Given the description of an element on the screen output the (x, y) to click on. 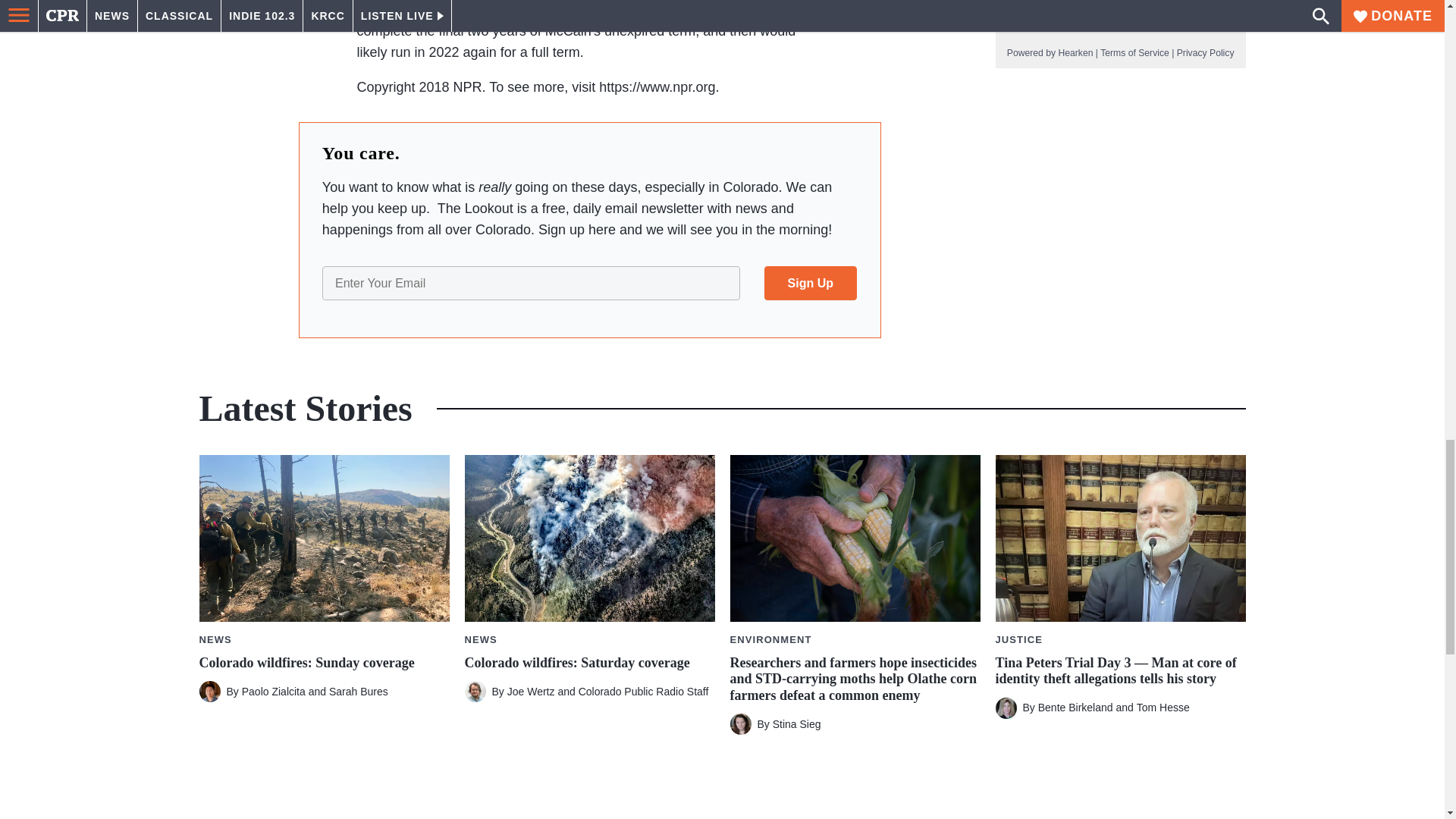
newsArticleSignup (589, 243)
